Given the description of an element on the screen output the (x, y) to click on. 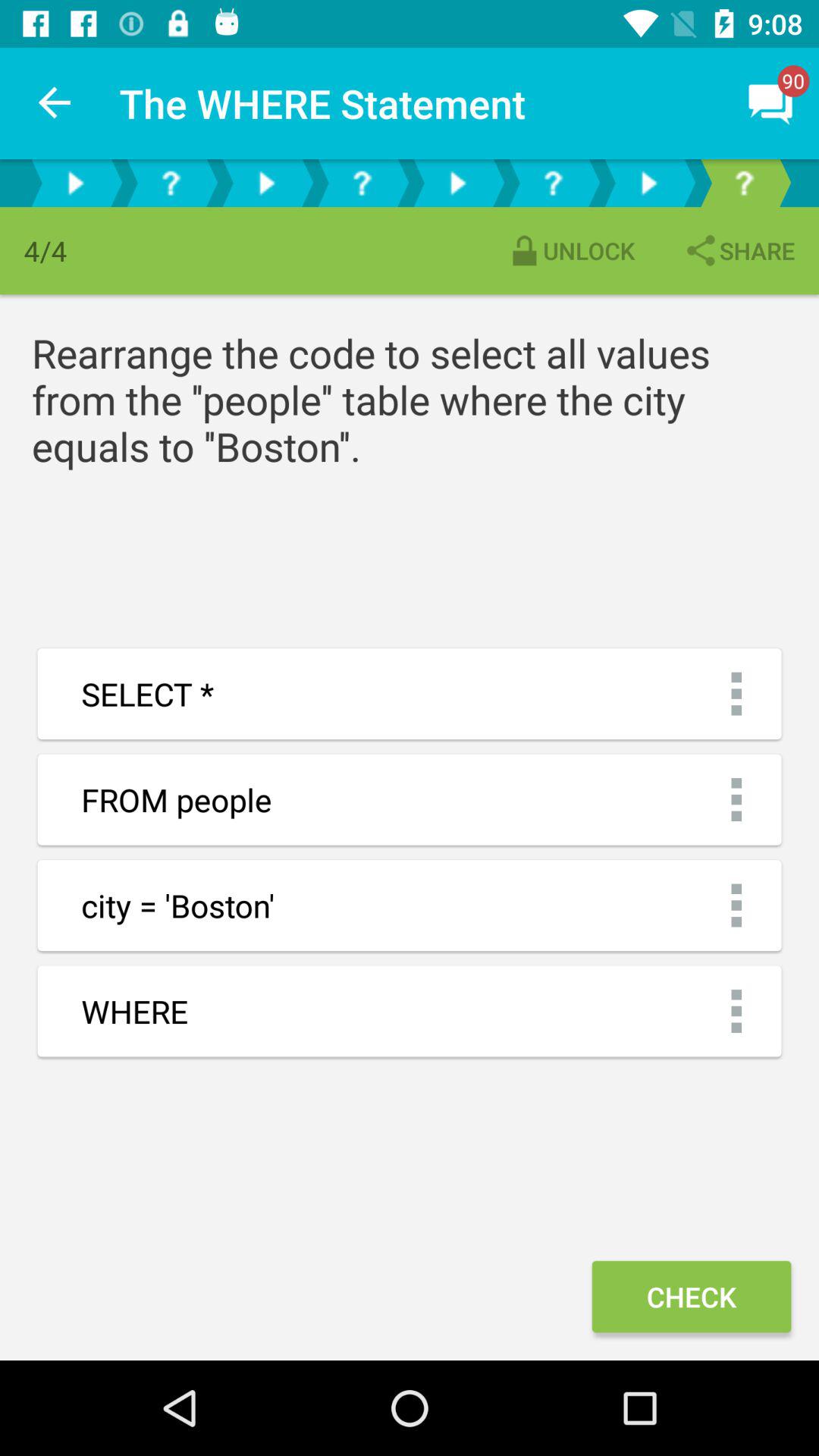
turn off item next to share (570, 250)
